Given the description of an element on the screen output the (x, y) to click on. 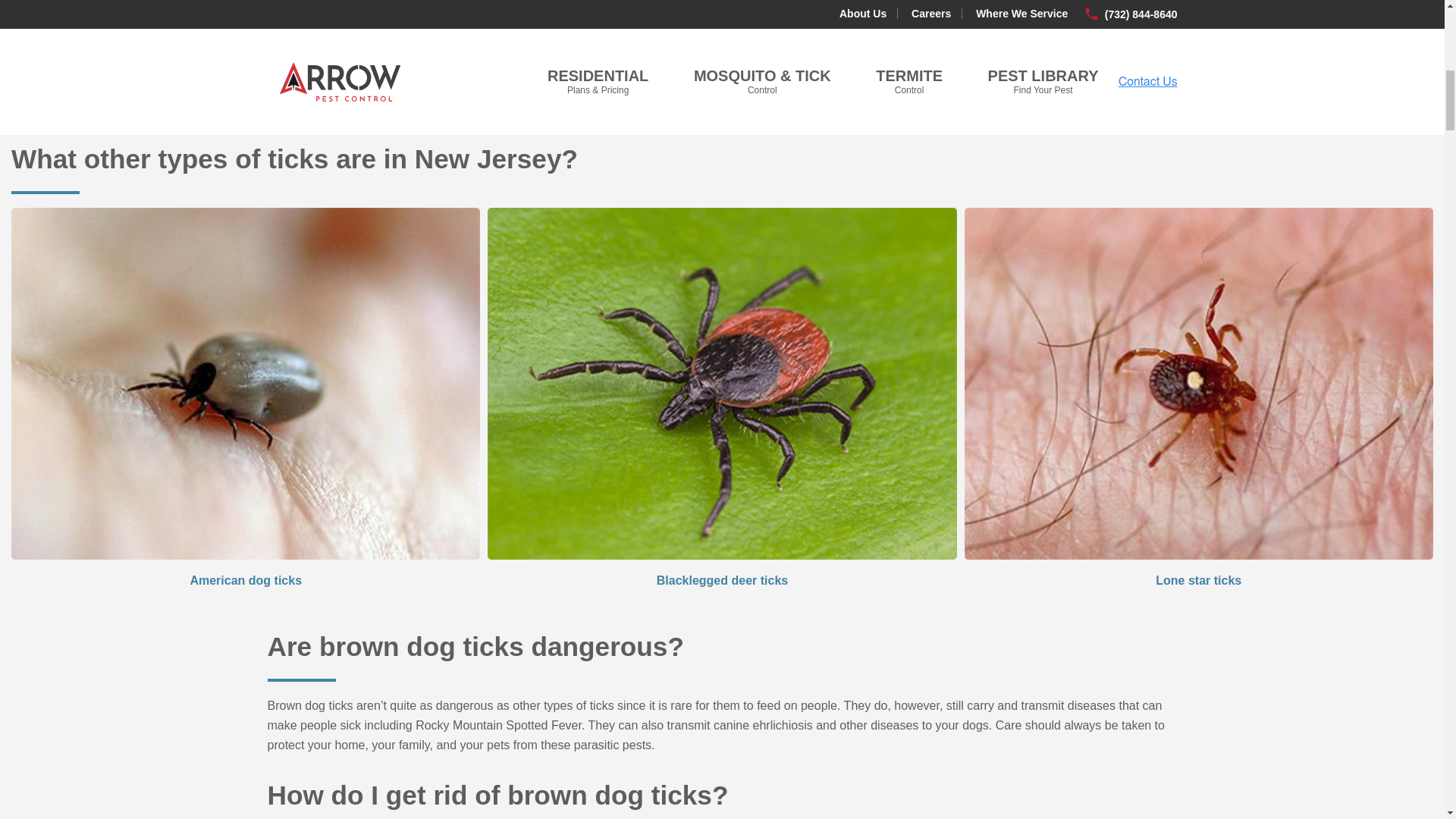
The Ultimate Guide To Brown Dog Ticks In New Jersey (949, 27)
